Given the description of an element on the screen output the (x, y) to click on. 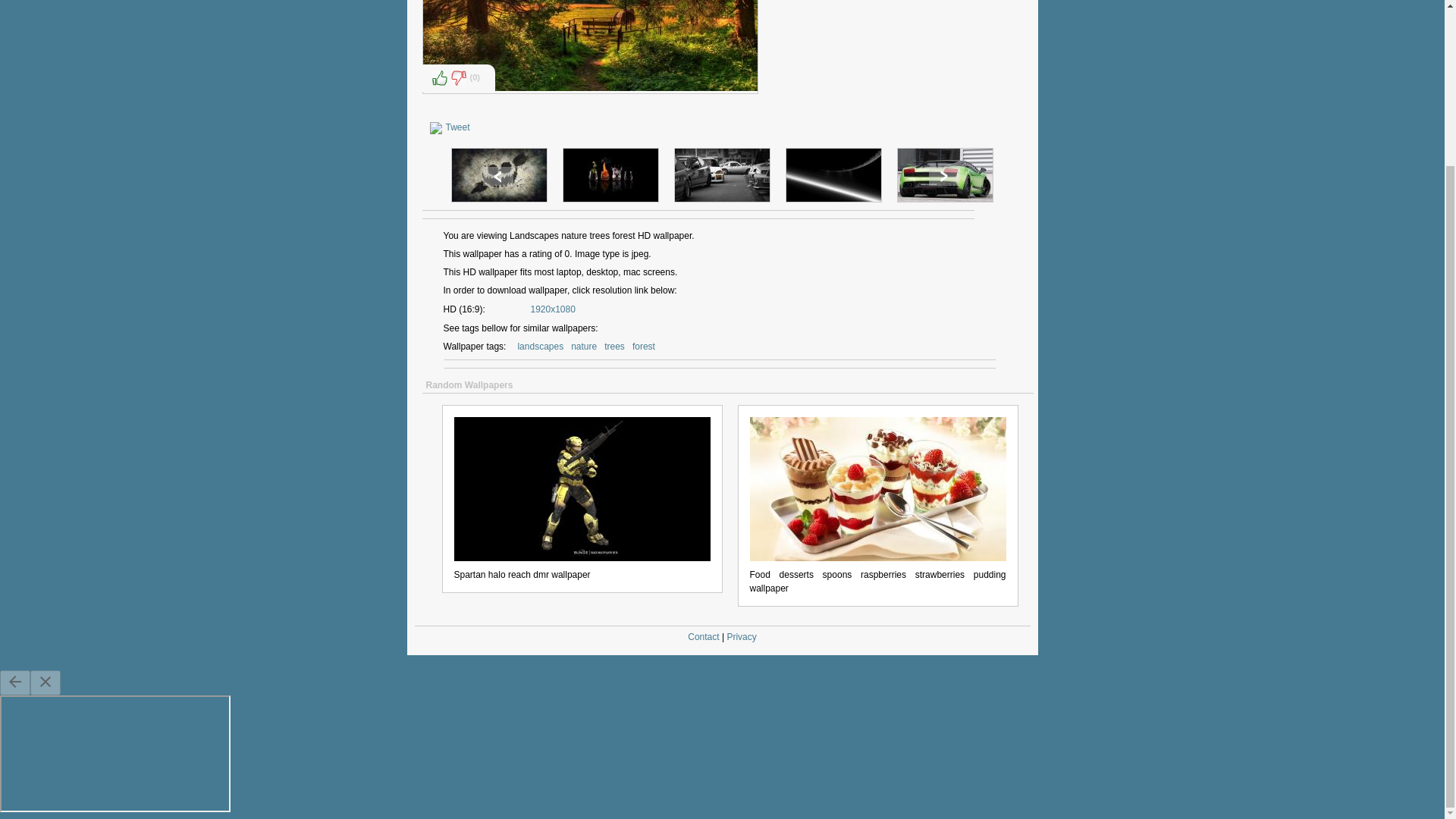
landscapes (539, 346)
landscapes wallpapers (539, 346)
Advertisement (892, 57)
trees (614, 346)
forest wallpapers (643, 346)
1920x1080 (553, 309)
forest (643, 346)
Landscapes nature trees forest wallpaper HD 1920x1080 (553, 309)
Tweet (457, 127)
Landscapes nature trees forest wallpaper (590, 45)
nature wallpapers (583, 346)
nature (583, 346)
trees wallpapers (614, 346)
Spartan halo reach dmr wallpaper (581, 486)
